Given the description of an element on the screen output the (x, y) to click on. 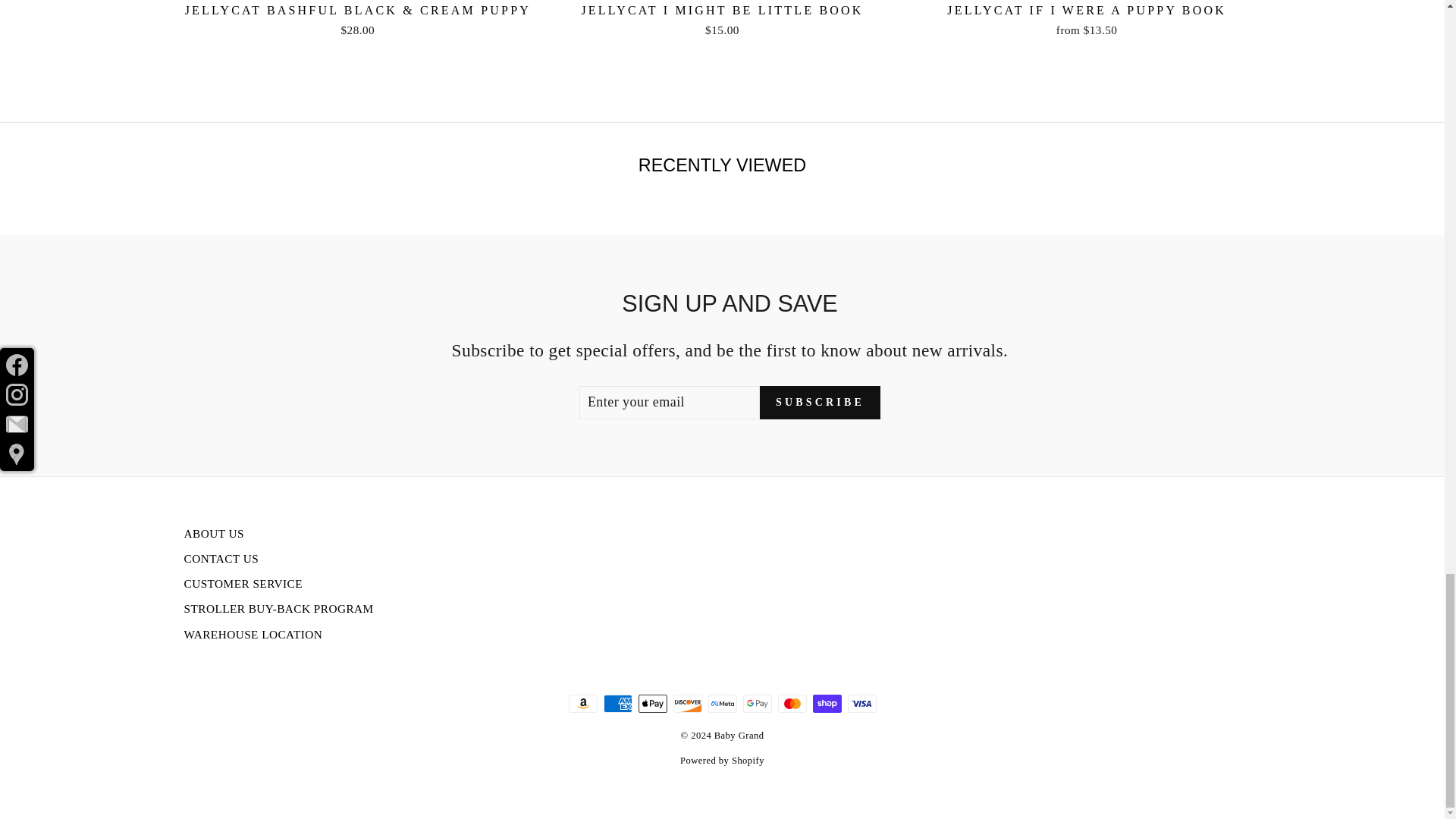
Apple Pay (652, 703)
Discover (686, 703)
American Express (617, 703)
Amazon (582, 703)
